Given the description of an element on the screen output the (x, y) to click on. 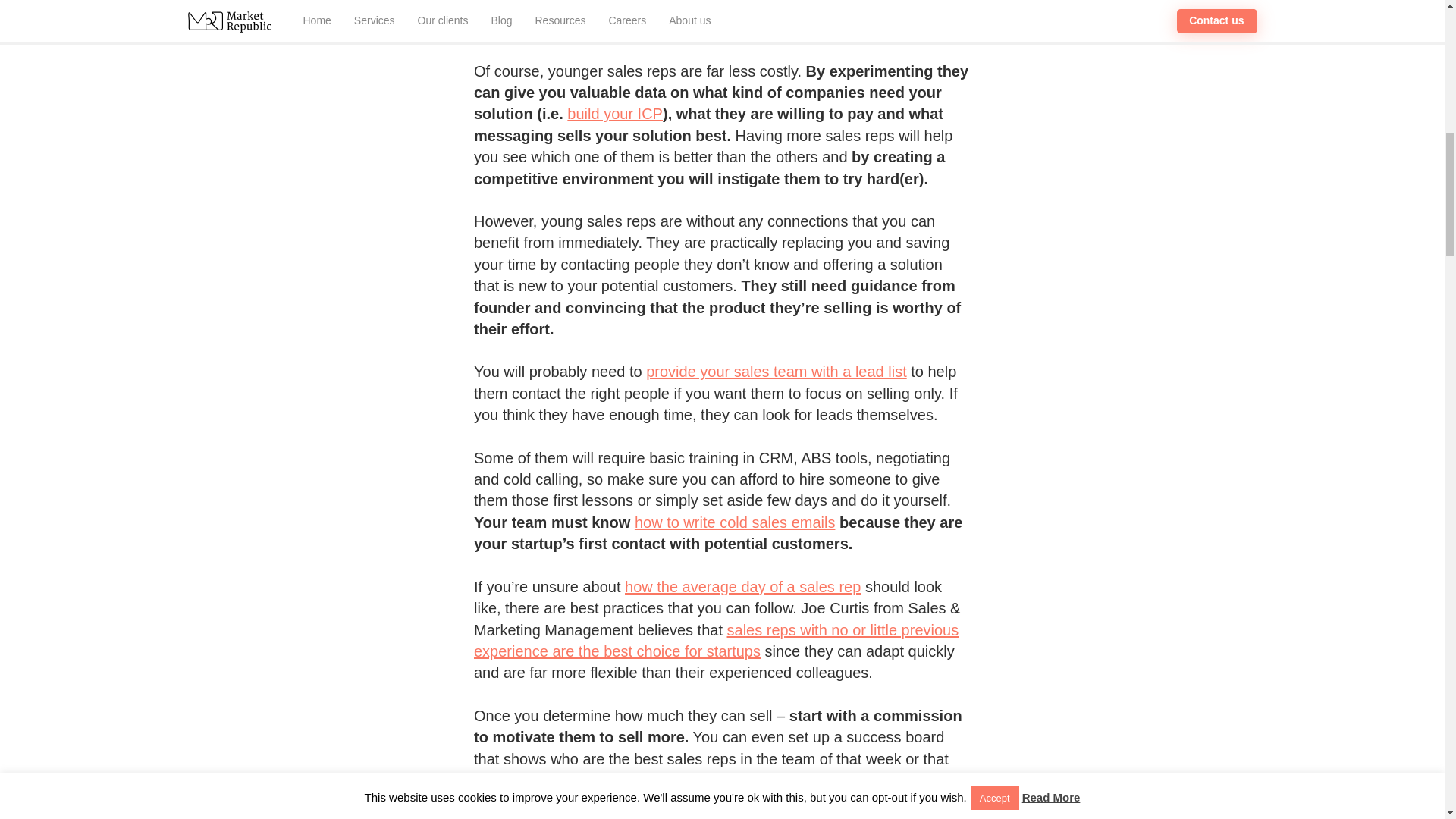
build your ICP (614, 113)
how the average day of a sales rep (742, 586)
provide your sales team with a lead list (776, 371)
how to write cold sales emails (734, 522)
